Given the description of an element on the screen output the (x, y) to click on. 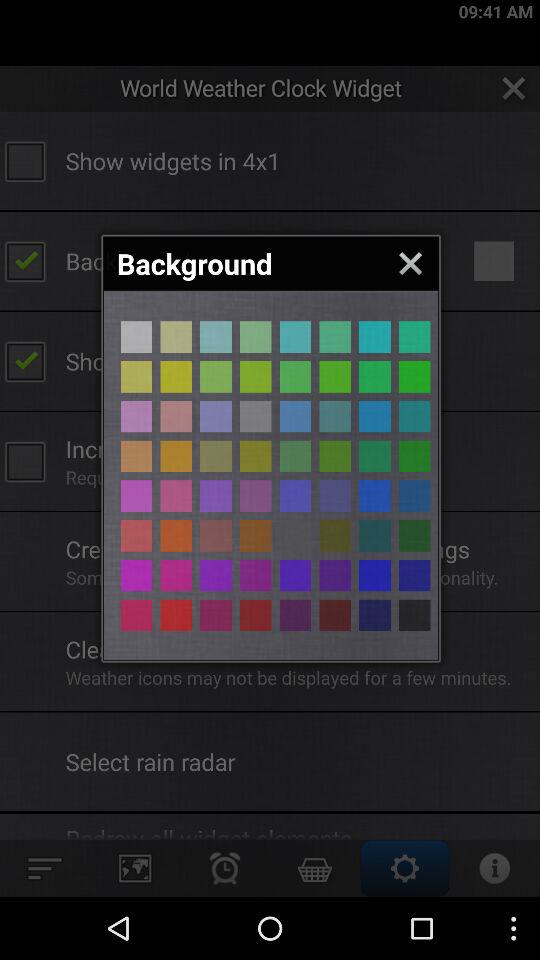
toggle color (295, 416)
